Given the description of an element on the screen output the (x, y) to click on. 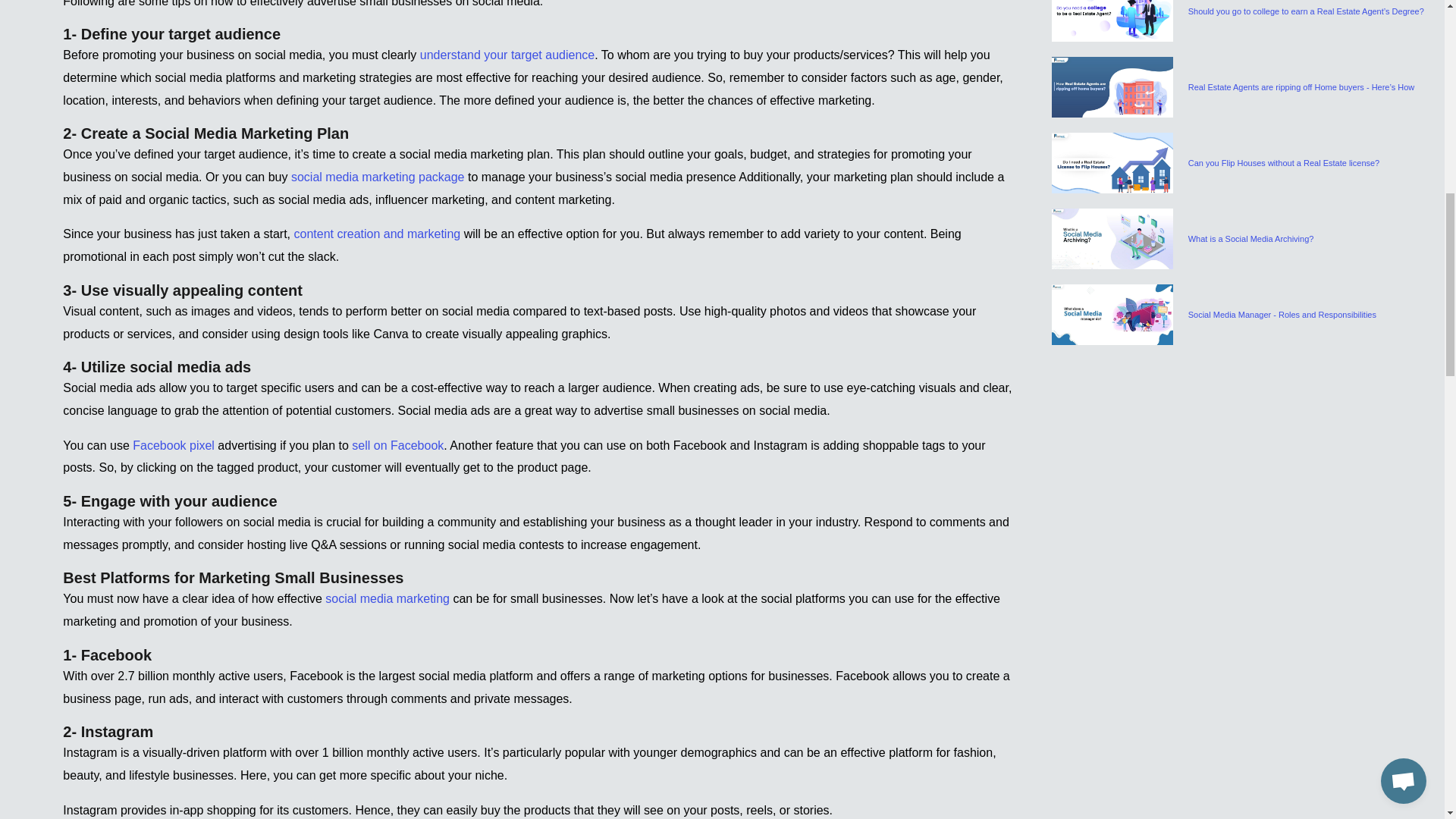
Facebook pixel (173, 445)
content creation and marketing (377, 233)
social media marketing package (377, 176)
understand your target audience (507, 54)
sell on Facebook (398, 445)
social media marketing (386, 598)
